Given the description of an element on the screen output the (x, y) to click on. 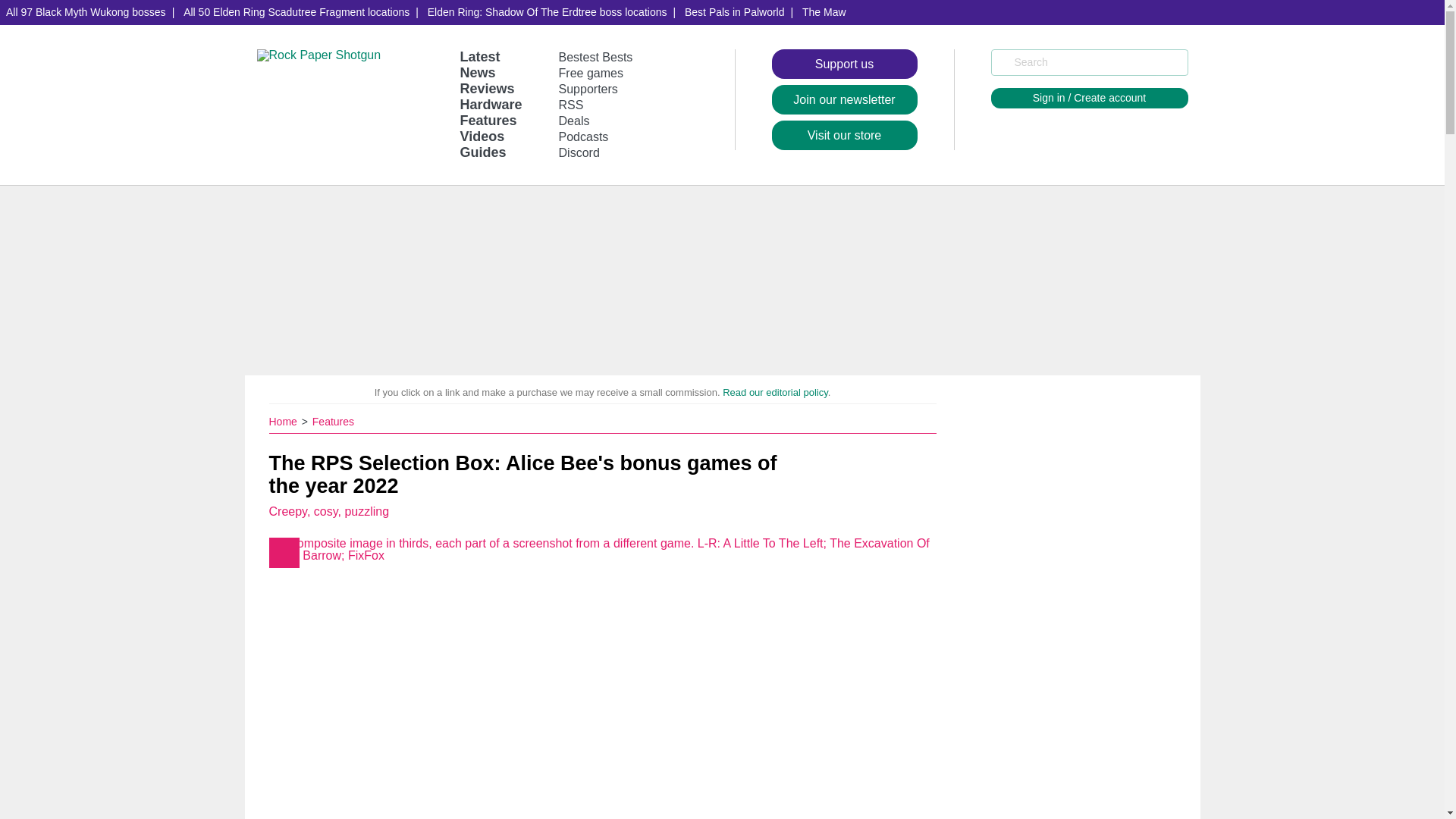
Deals (574, 120)
Guides (482, 151)
All 50 Elden Ring Scadutree Fragment locations (295, 12)
Best Pals in Palworld (734, 12)
Free games (591, 72)
Join our newsletter (844, 99)
Reviews (486, 88)
Features (333, 421)
RSS (571, 104)
Videos (481, 136)
